Given the description of an element on the screen output the (x, y) to click on. 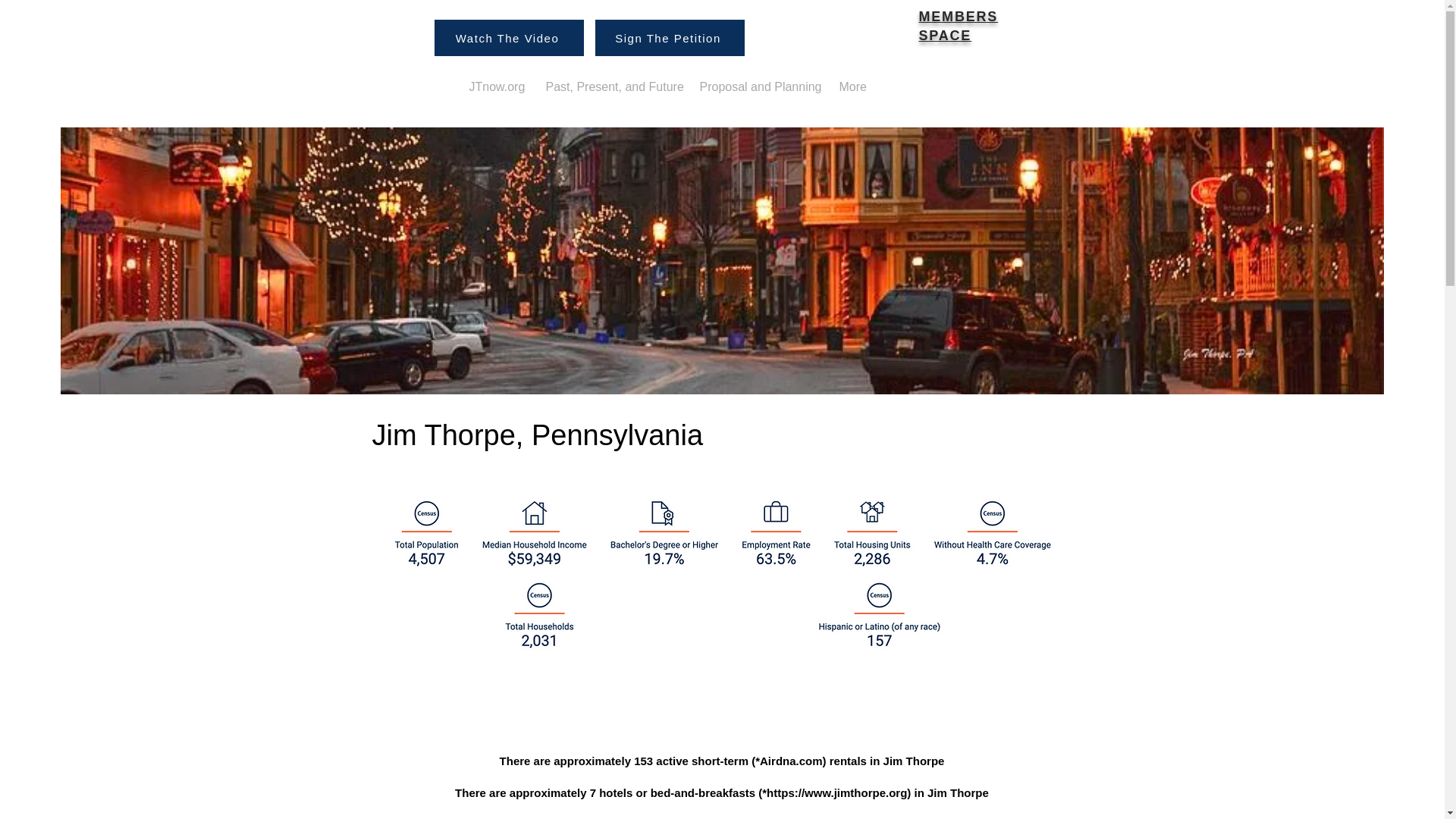
Sign The Petition (669, 37)
Past, Present, and Future (610, 86)
MEMBERS SPACE (958, 26)
Watch The Video (508, 37)
Proposal and Planning (758, 86)
JTnow.org (496, 86)
Log In (467, 23)
